Given the description of an element on the screen output the (x, y) to click on. 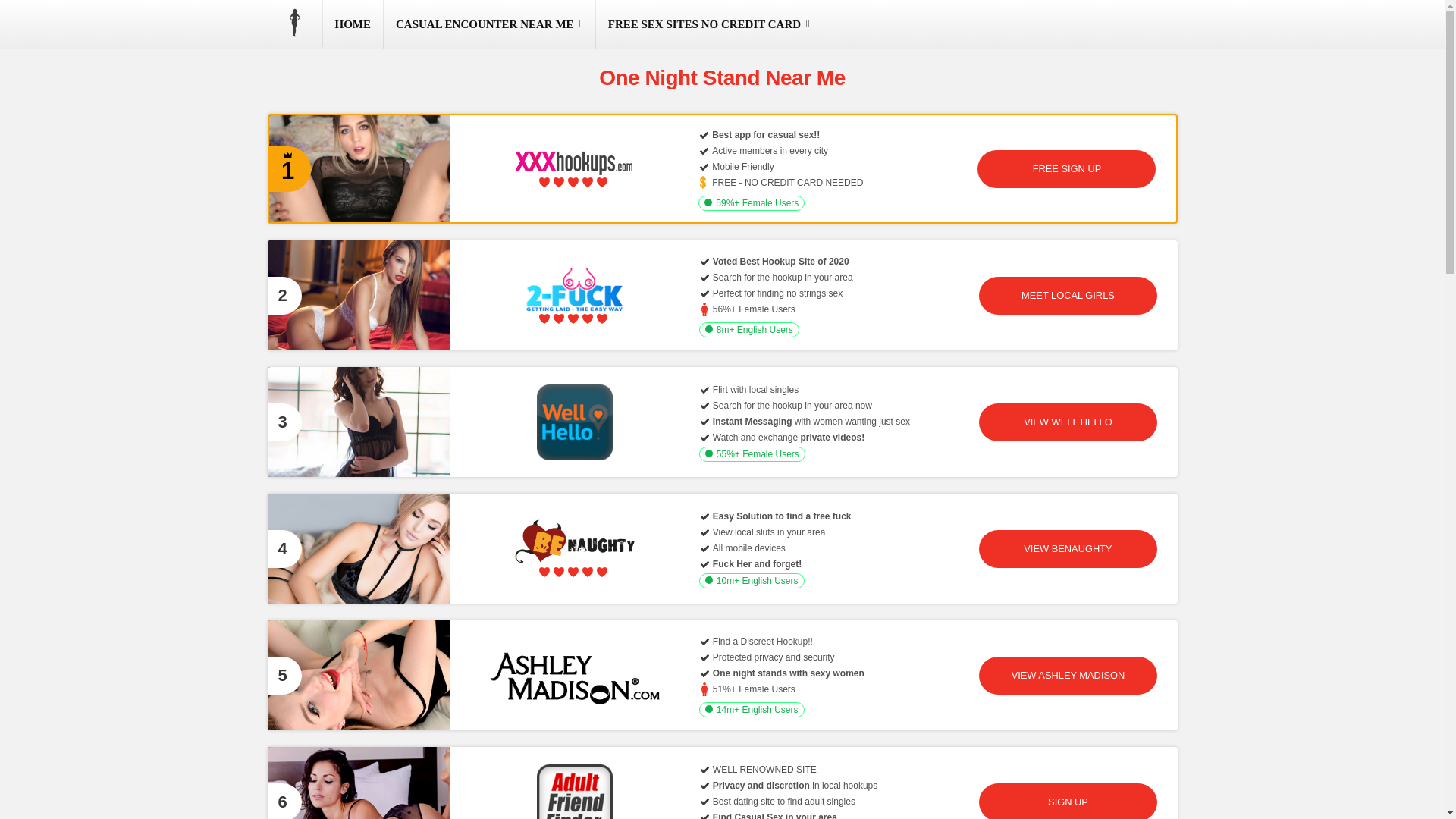
CASUAL ENCOUNTER NEAR ME (489, 24)
HOME (353, 24)
